Given the description of an element on the screen output the (x, y) to click on. 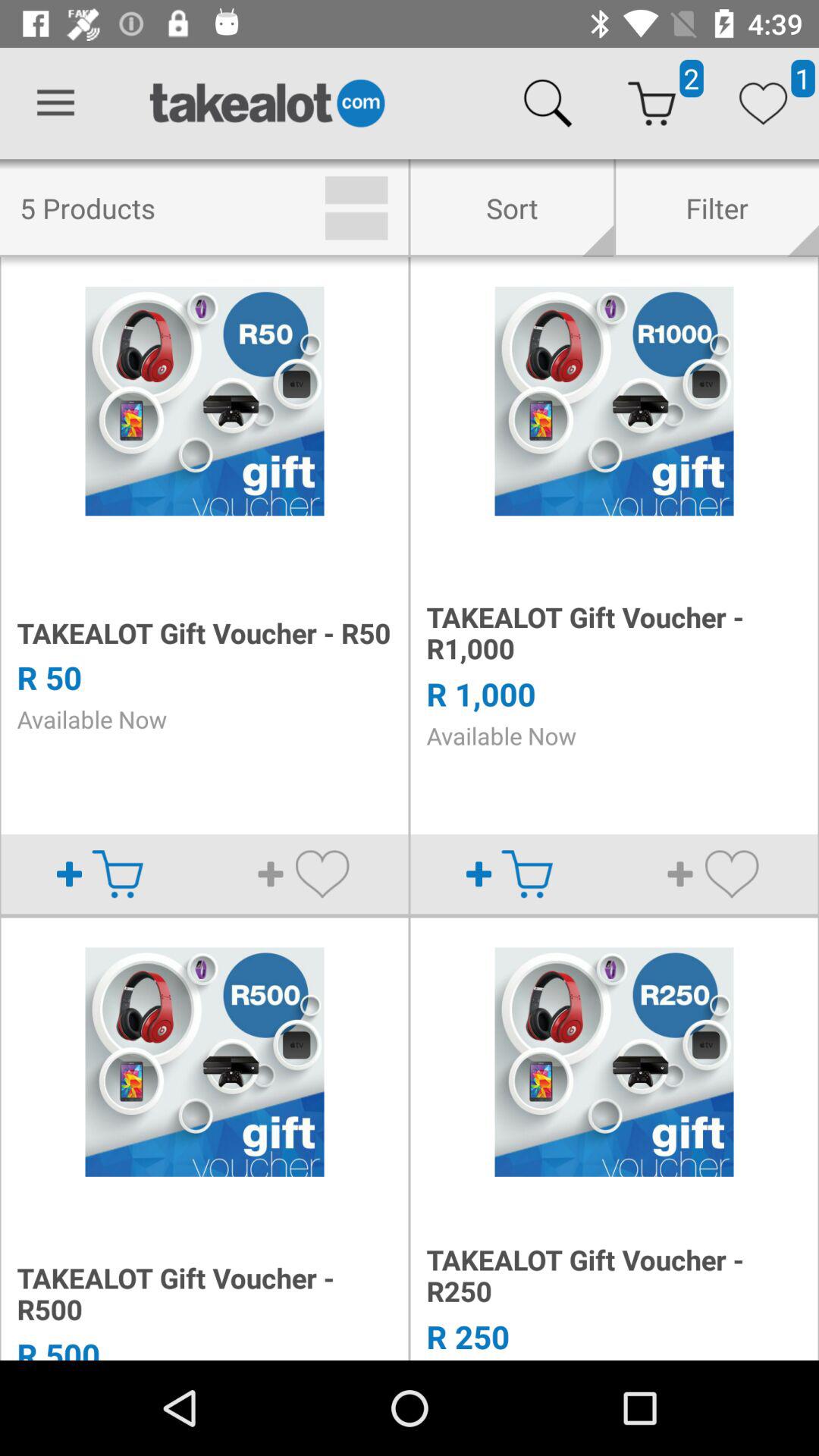
click on the search bar icon (548, 103)
select the icon to the left of sort (356, 208)
click on the shopping cart option below r 50 (117, 874)
select the heart icon in the 1st image from left (321, 874)
select the like icon which is in the top right corner (763, 103)
